Given the description of an element on the screen output the (x, y) to click on. 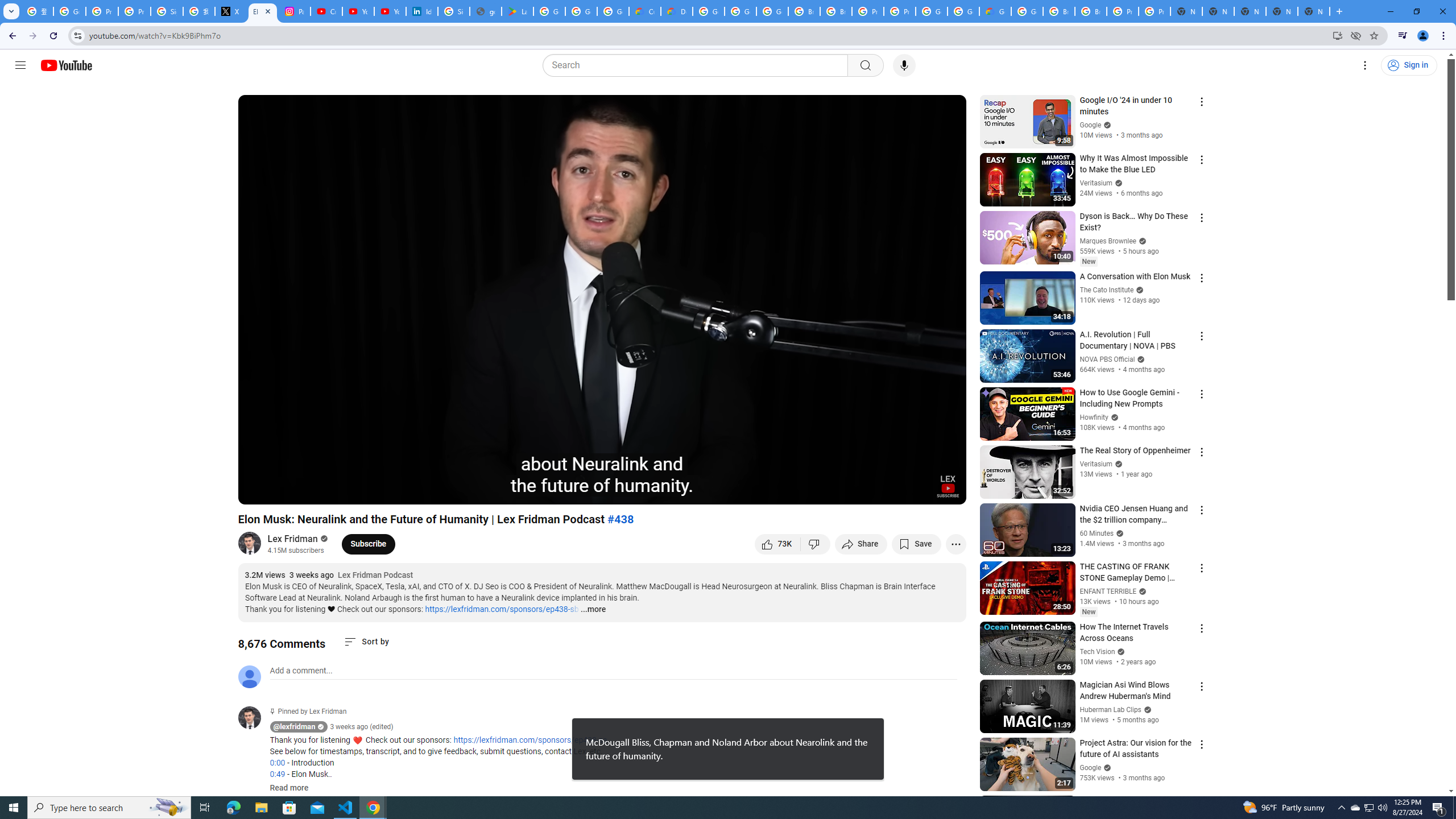
Google Cloud Platform (1027, 11)
Verified (1106, 767)
#438 (620, 519)
@lexfridman (294, 726)
Mute (m) (312, 490)
